Given the description of an element on the screen output the (x, y) to click on. 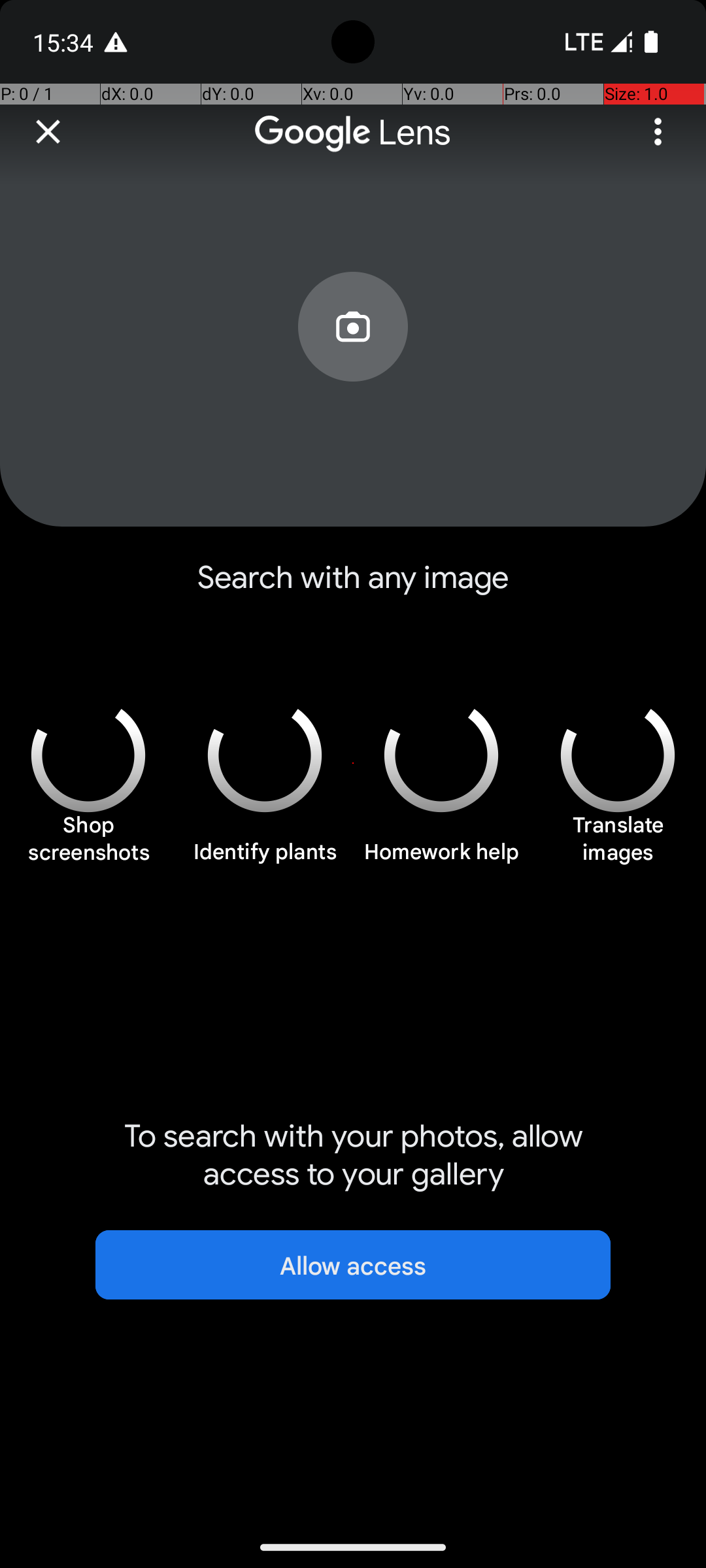
Search with your camera Element type: android.widget.FrameLayout (353, 356)
Search with any image Element type: android.widget.TextView (353, 587)
Shop screenshots Element type: android.widget.TextView (88, 845)
Identify plants Element type: android.widget.TextView (264, 858)
Homework help Element type: android.widget.TextView (441, 858)
Translate images Element type: android.widget.TextView (617, 845)
To search with your photos, allow access to your gallery Element type: android.widget.TextView (352, 1154)
Allow access Element type: android.widget.Button (352, 1264)
